Given the description of an element on the screen output the (x, y) to click on. 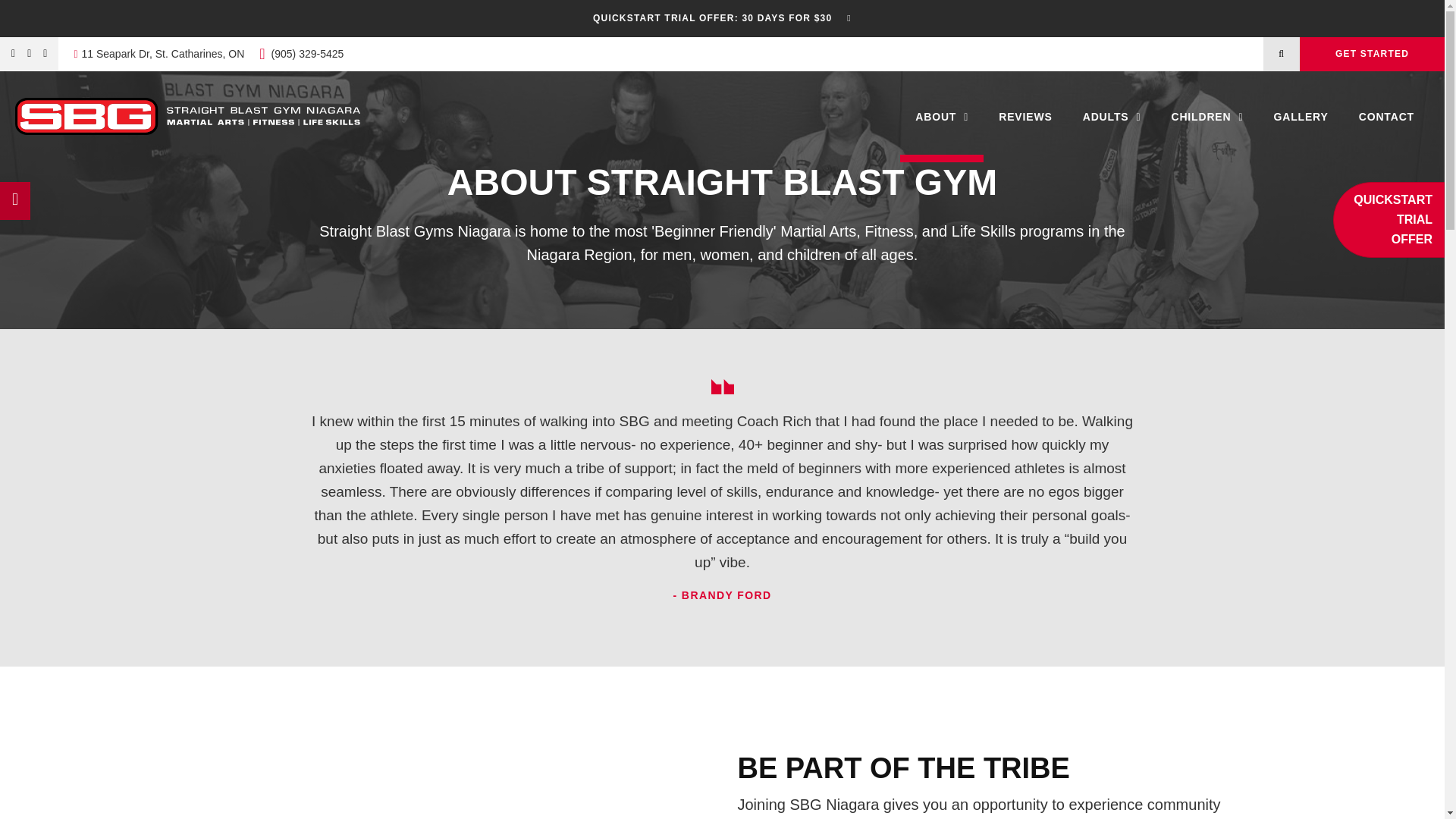
OPEN SEARCH BOX (1281, 53)
11 Seapark Dr St. Catharines ON (159, 53)
